Given the description of an element on the screen output the (x, y) to click on. 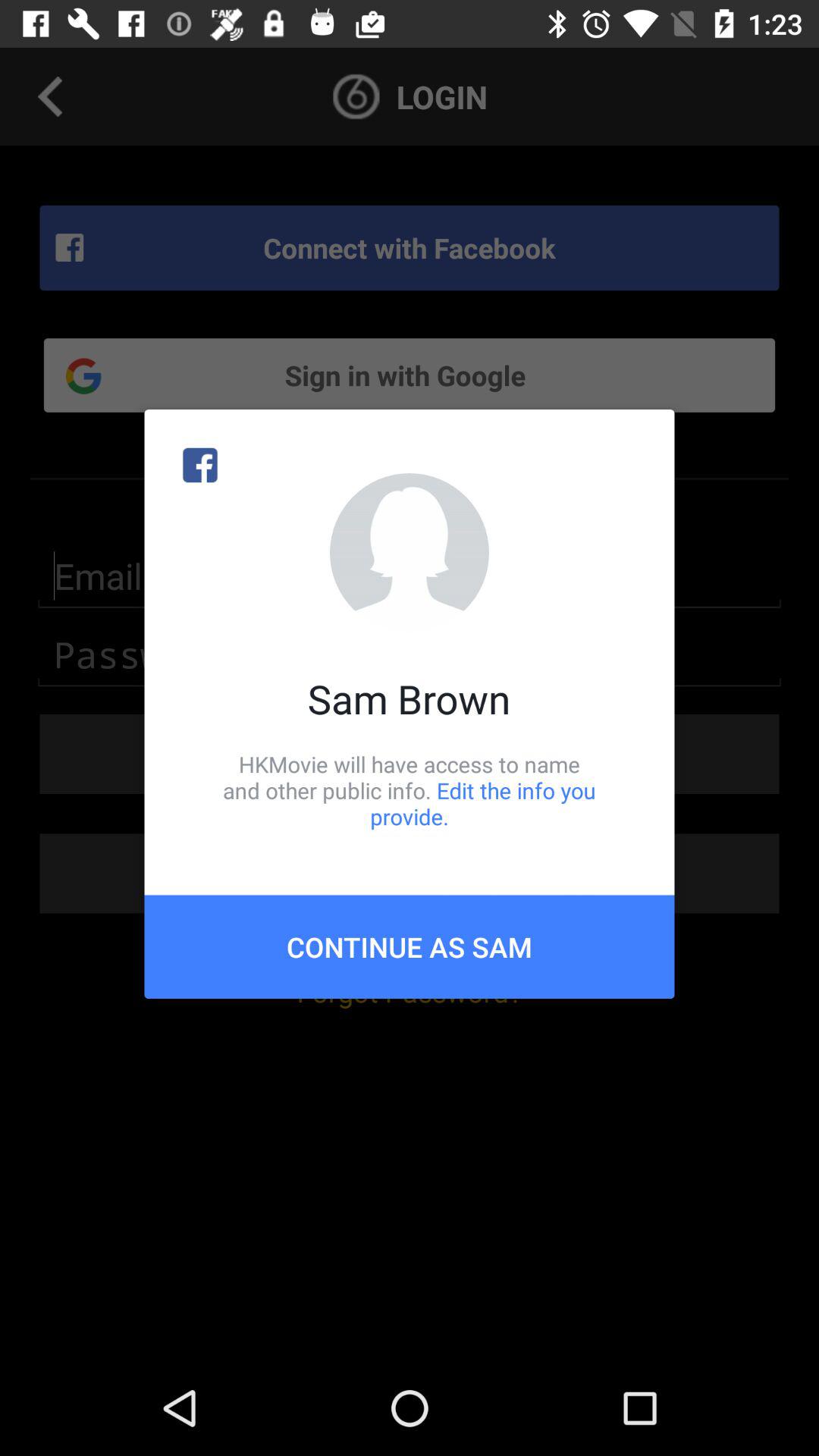
launch the hkmovie will have item (409, 790)
